Given the description of an element on the screen output the (x, y) to click on. 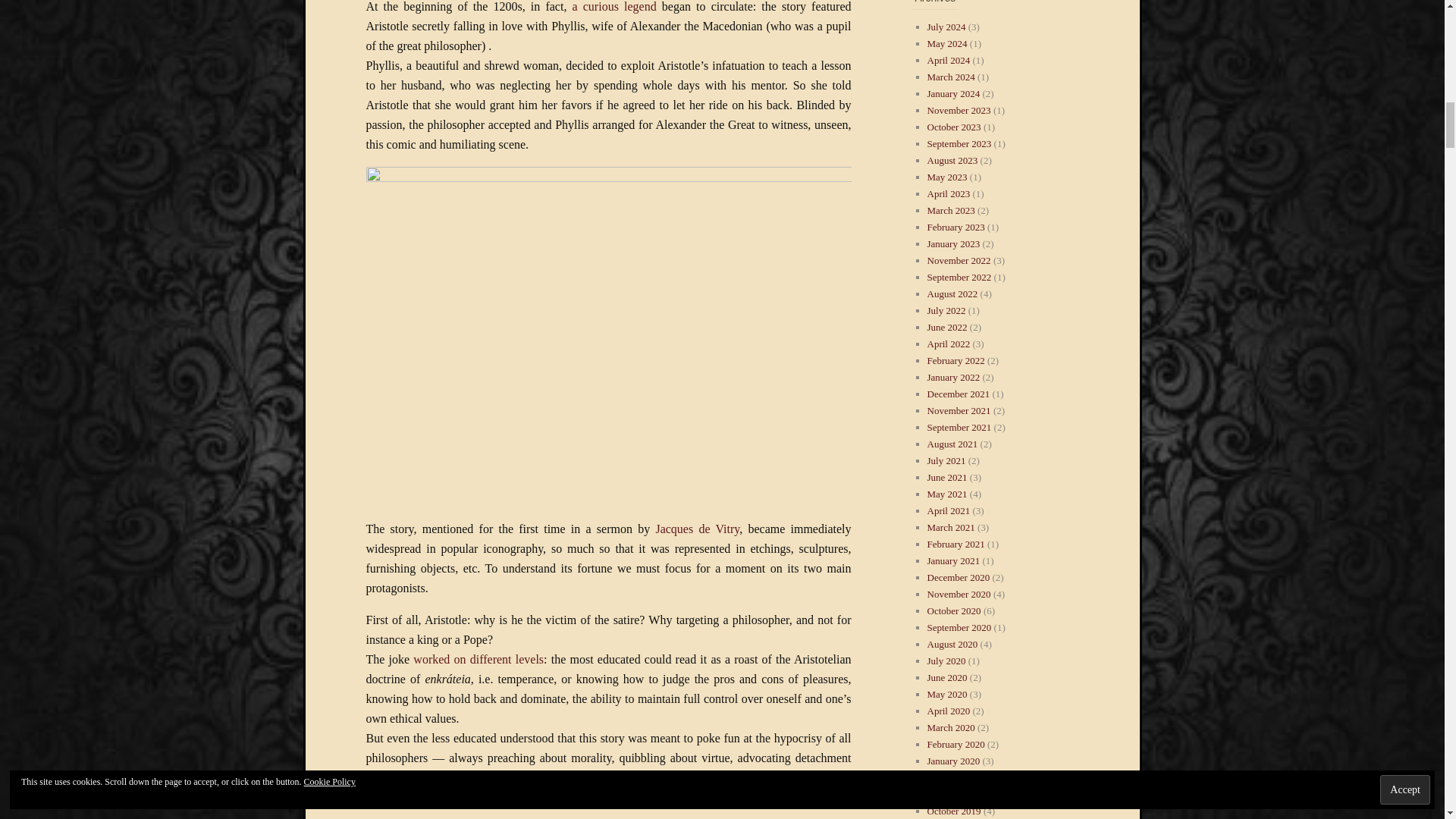
Jacques de Vitry (697, 528)
a curious legend (614, 6)
worked on different levels (478, 658)
